Given the description of an element on the screen output the (x, y) to click on. 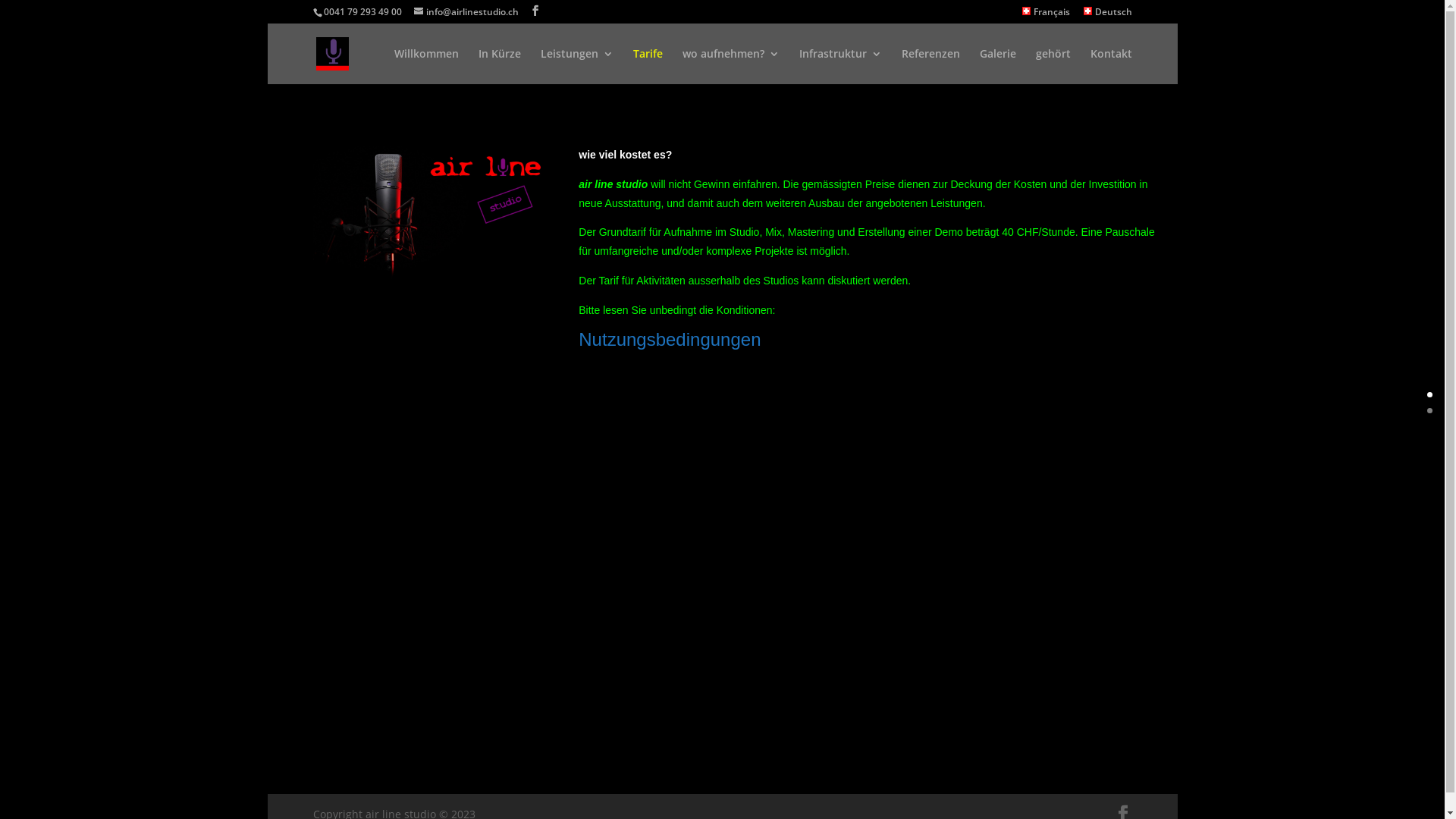
0 Element type: text (1429, 394)
Nutzungsbedingungen Element type: text (669, 339)
Kontakt Element type: text (1111, 66)
Infrastruktur Element type: text (840, 66)
wo aufnehmen? Element type: text (730, 66)
Deutsch Element type: text (1107, 14)
info@airlinestudio.ch Element type: text (466, 11)
Referenzen Element type: text (929, 66)
Tarife Element type: text (647, 66)
Leistungen Element type: text (575, 66)
Galerie Element type: text (997, 66)
1 Element type: text (1429, 410)
Willkommen Element type: text (426, 66)
